Given the description of an element on the screen output the (x, y) to click on. 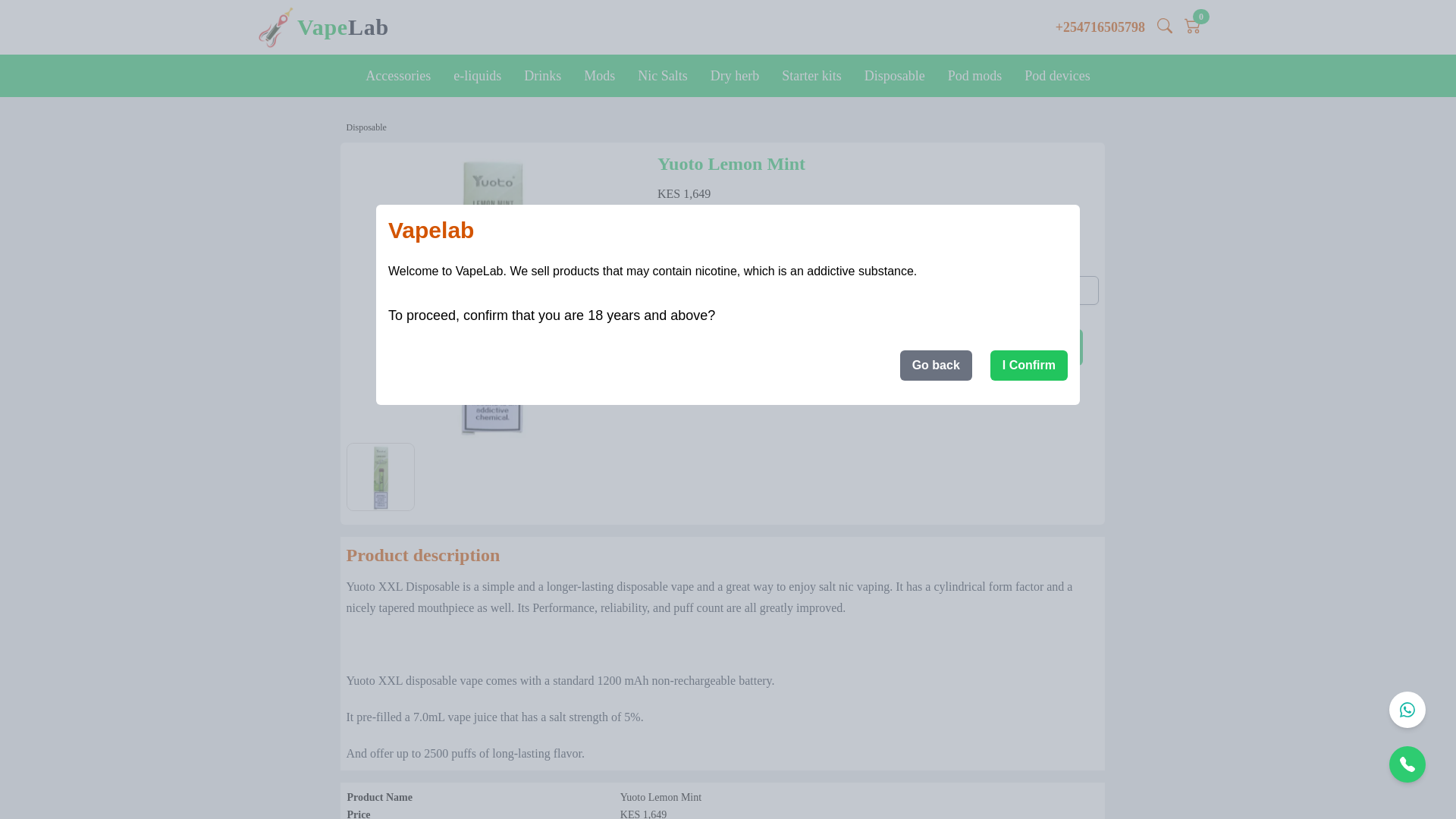
Mods (599, 75)
Starter kits (811, 75)
Pod mods (974, 75)
VapeLab (342, 26)
e-liquids (477, 75)
Drinks (542, 75)
Nic Salts (662, 75)
Disposable (894, 75)
Accessories (397, 75)
Pod devices (1056, 75)
1 (878, 290)
Dry herb (734, 75)
Disposable (365, 127)
